Given the description of an element on the screen output the (x, y) to click on. 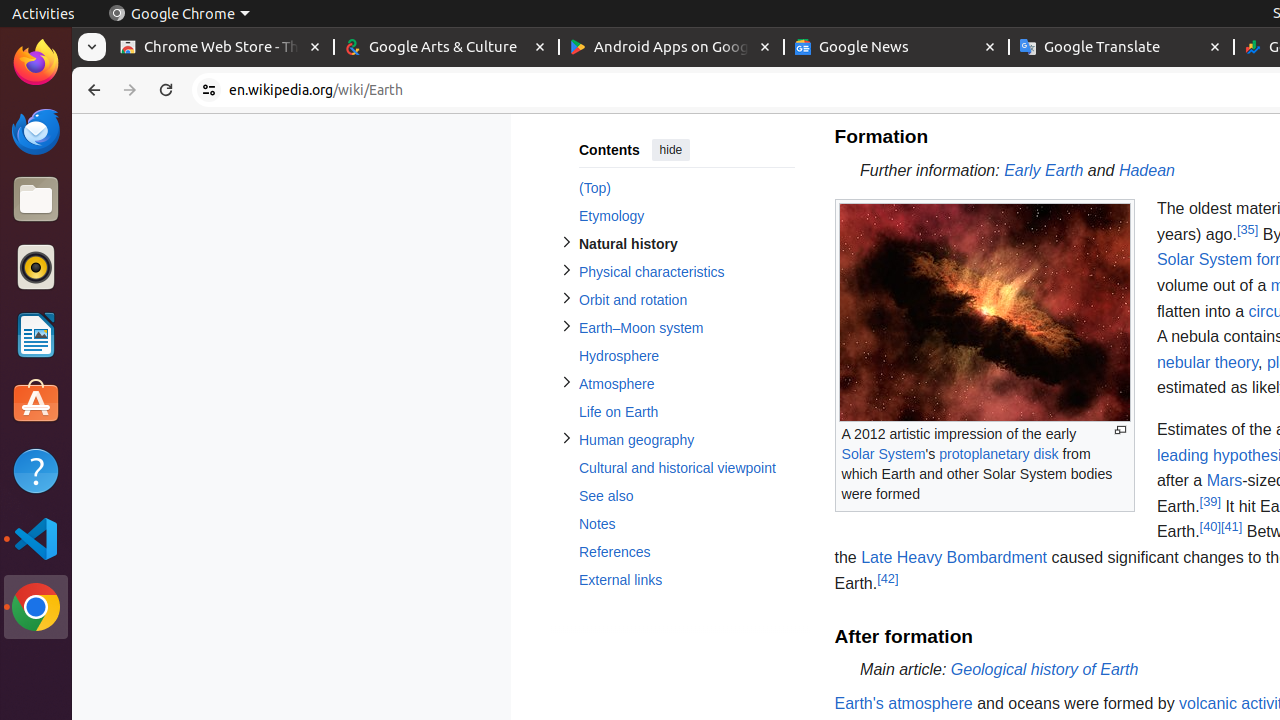
Files Element type: push-button (36, 199)
Late Heavy Bombardment Element type: link (954, 557)
Thunderbird Mail Element type: push-button (36, 131)
Solar System Element type: link (883, 454)
Cultural and historical viewpoint Element type: link (686, 468)
